Given the description of an element on the screen output the (x, y) to click on. 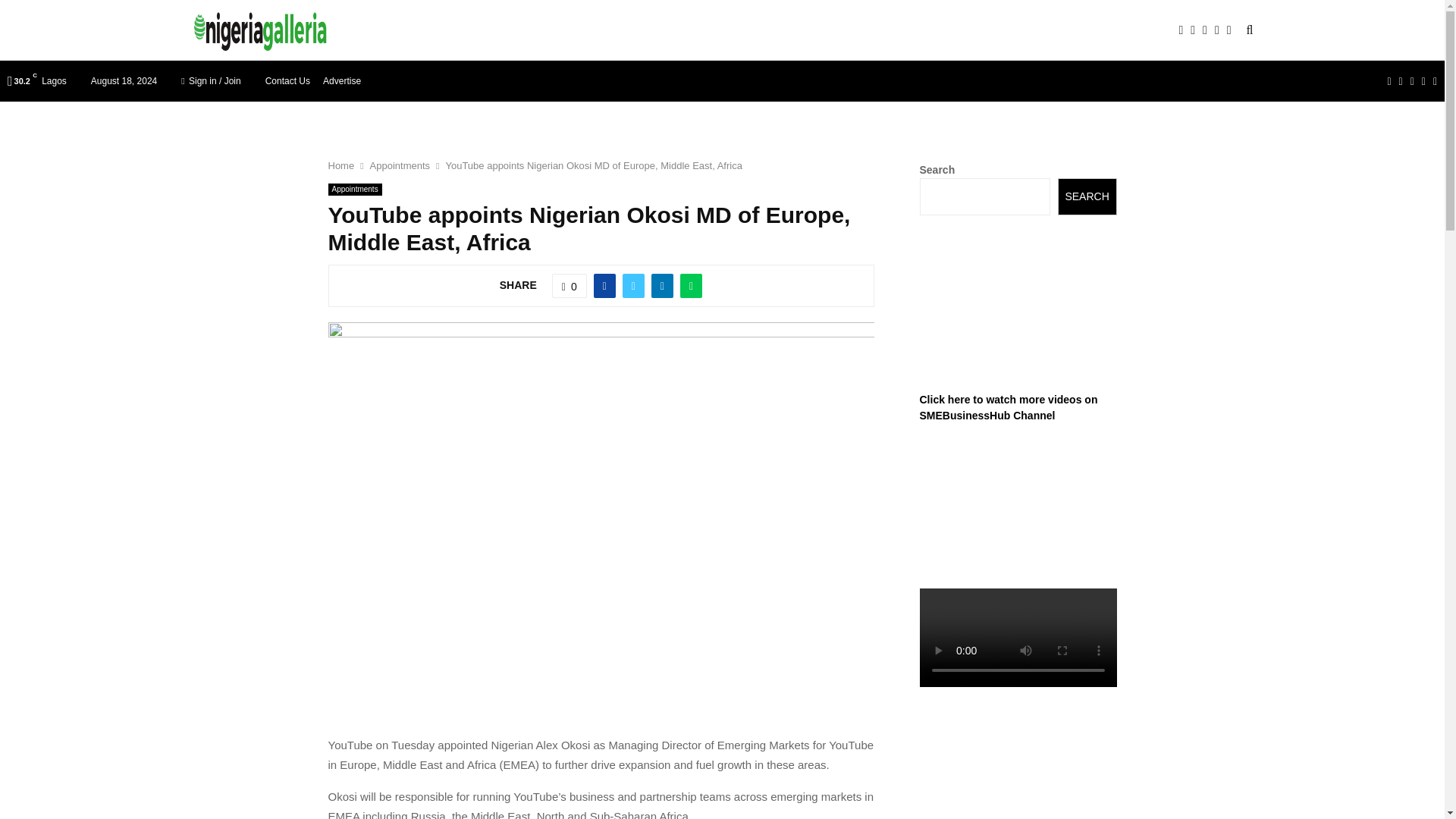
Contact Us (287, 80)
Appointments (399, 165)
Appointments (354, 189)
Advertise (342, 80)
NIGERIA GUIDE (452, 30)
DIRECTORY (547, 30)
Like (568, 285)
0 (568, 285)
Home (340, 165)
Login to your account (722, 328)
